Given the description of an element on the screen output the (x, y) to click on. 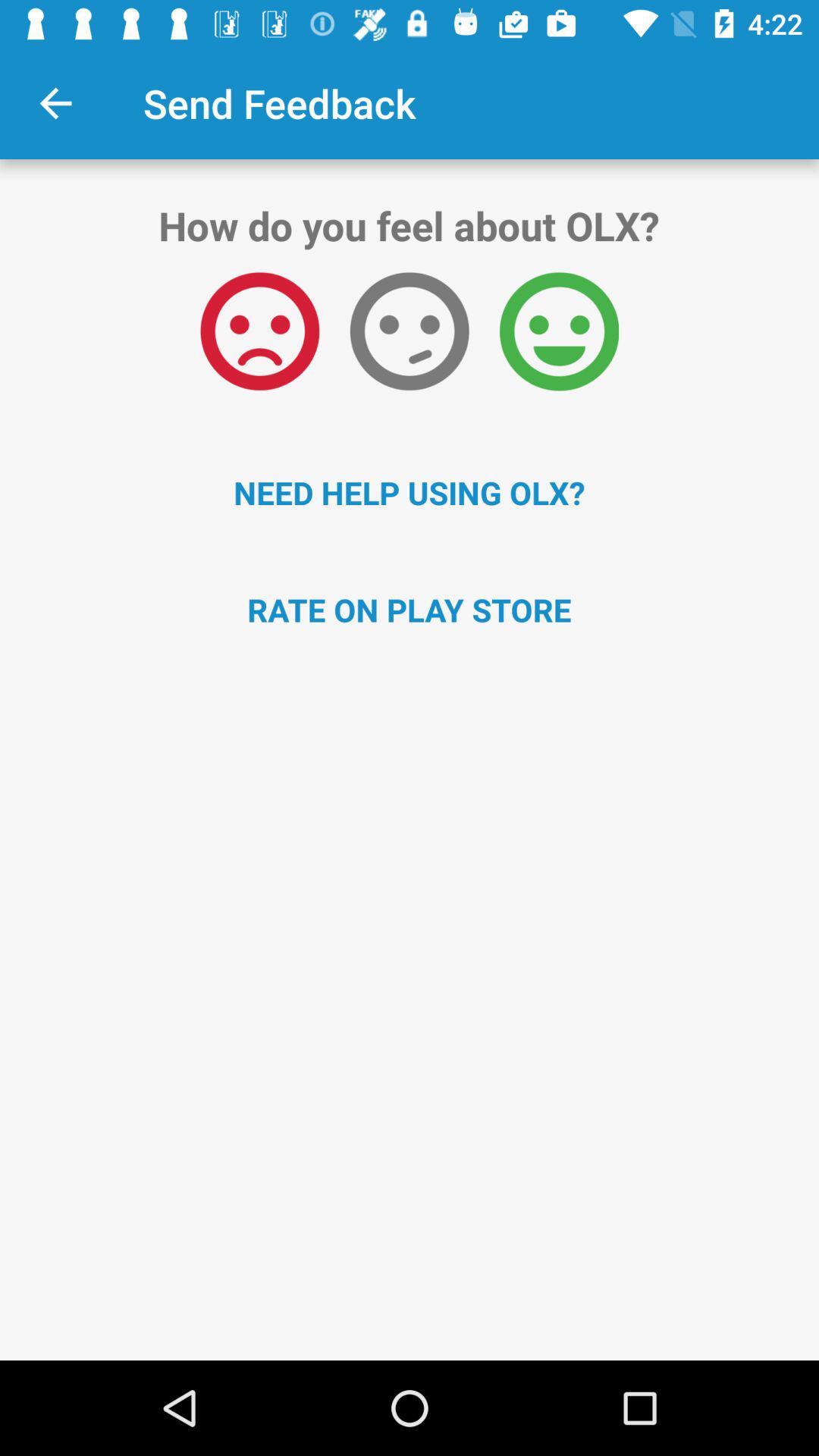
turn on item above need help using icon (409, 331)
